Given the description of an element on the screen output the (x, y) to click on. 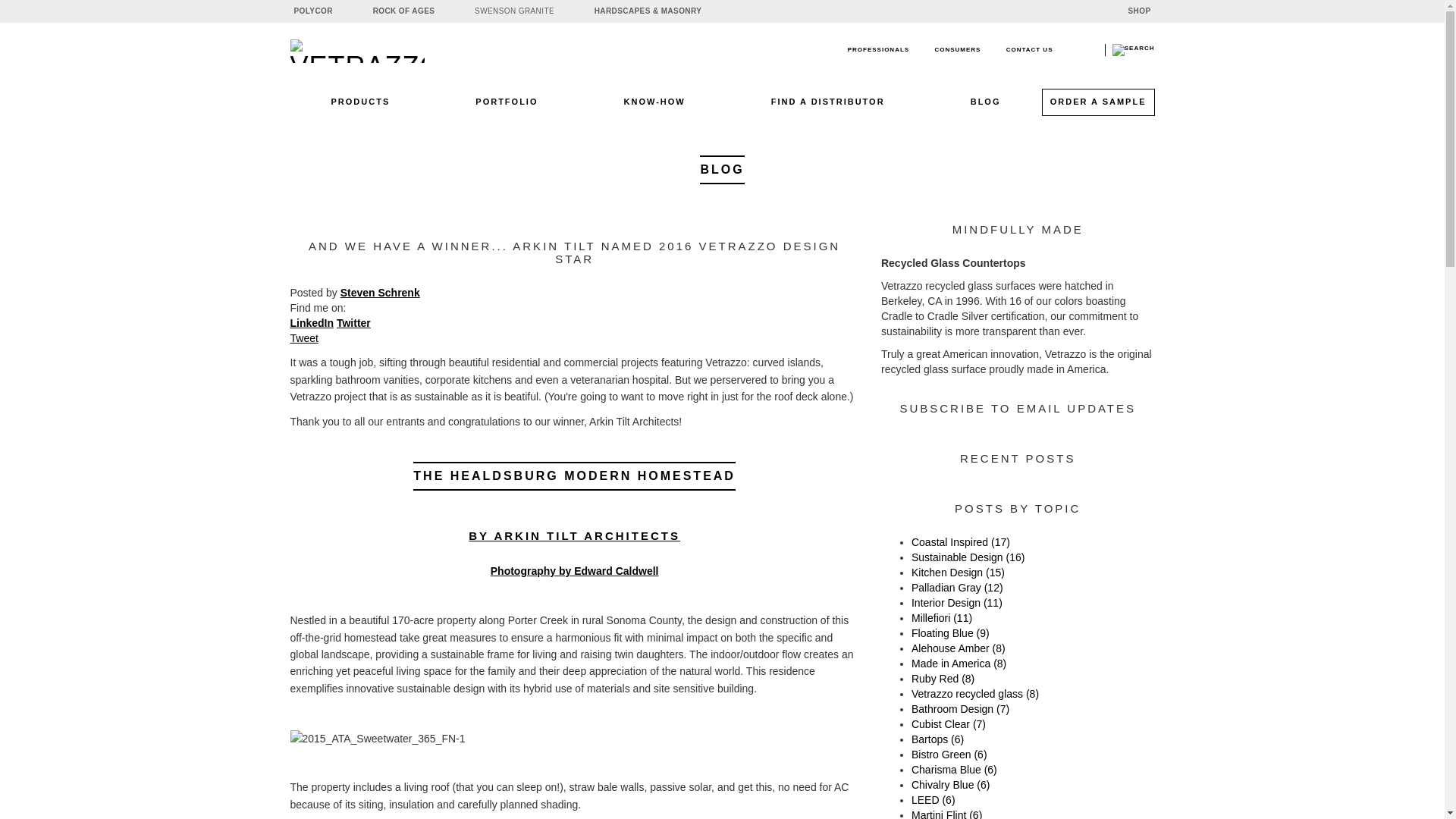
PRODUCTS (359, 107)
PROFESSIONALS (877, 49)
POLYCOR (328, 11)
SHOP (1139, 11)
ROCK OF AGES (418, 11)
CONTACT US (1029, 49)
PORTFOLIO (505, 107)
SWENSON GRANITE (529, 11)
FIND A DISTRIBUTOR (828, 107)
Vetrazzo (392, 51)
